Given the description of an element on the screen output the (x, y) to click on. 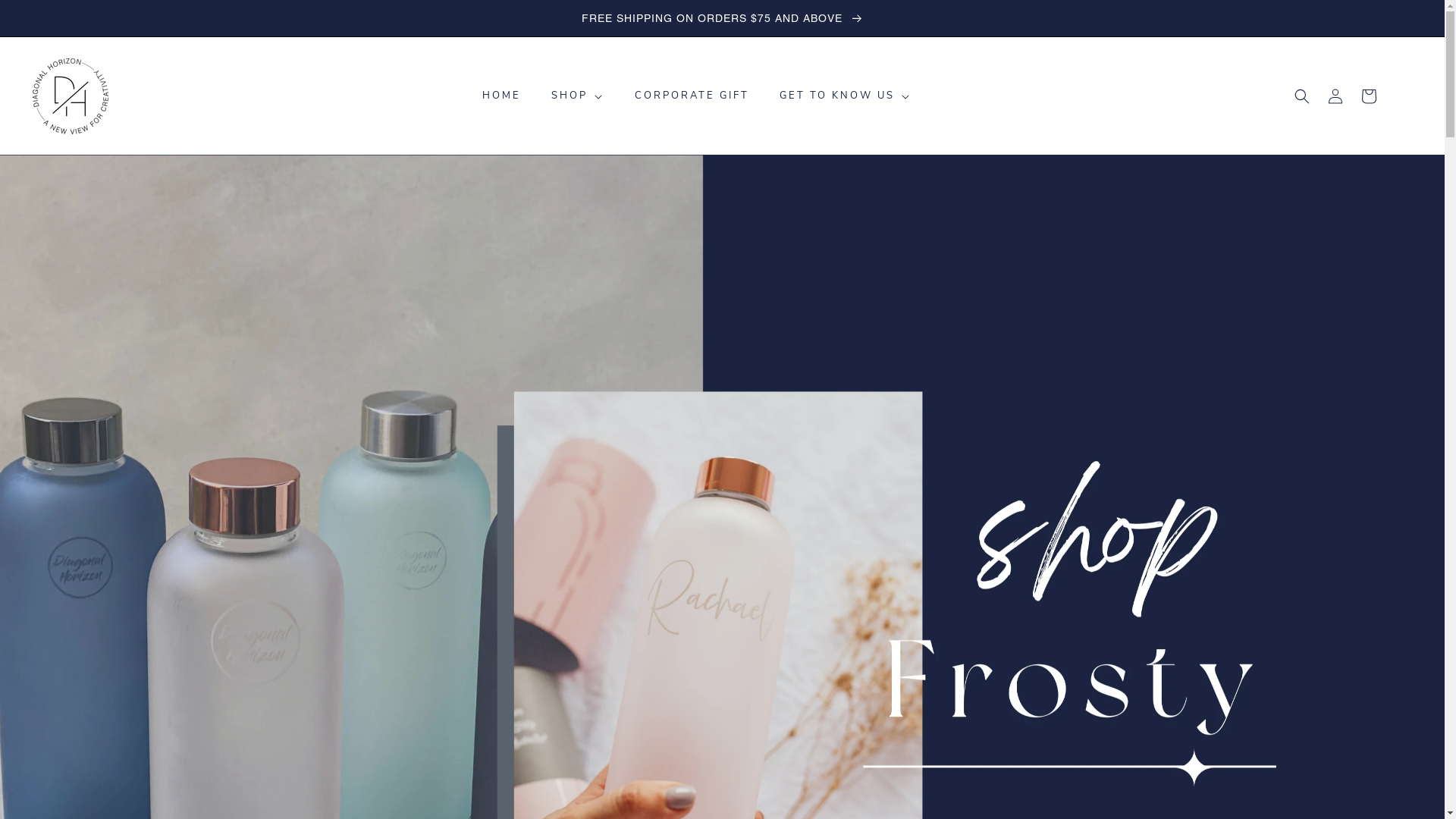
FREE SHIPPING ON ORDERS $75 AND ABOVE Element type: text (721, 17)
HOME Element type: text (501, 95)
CORPORATE GIFT Element type: text (691, 95)
Cart Element type: text (1368, 95)
Log in Element type: text (1335, 95)
